Given the description of an element on the screen output the (x, y) to click on. 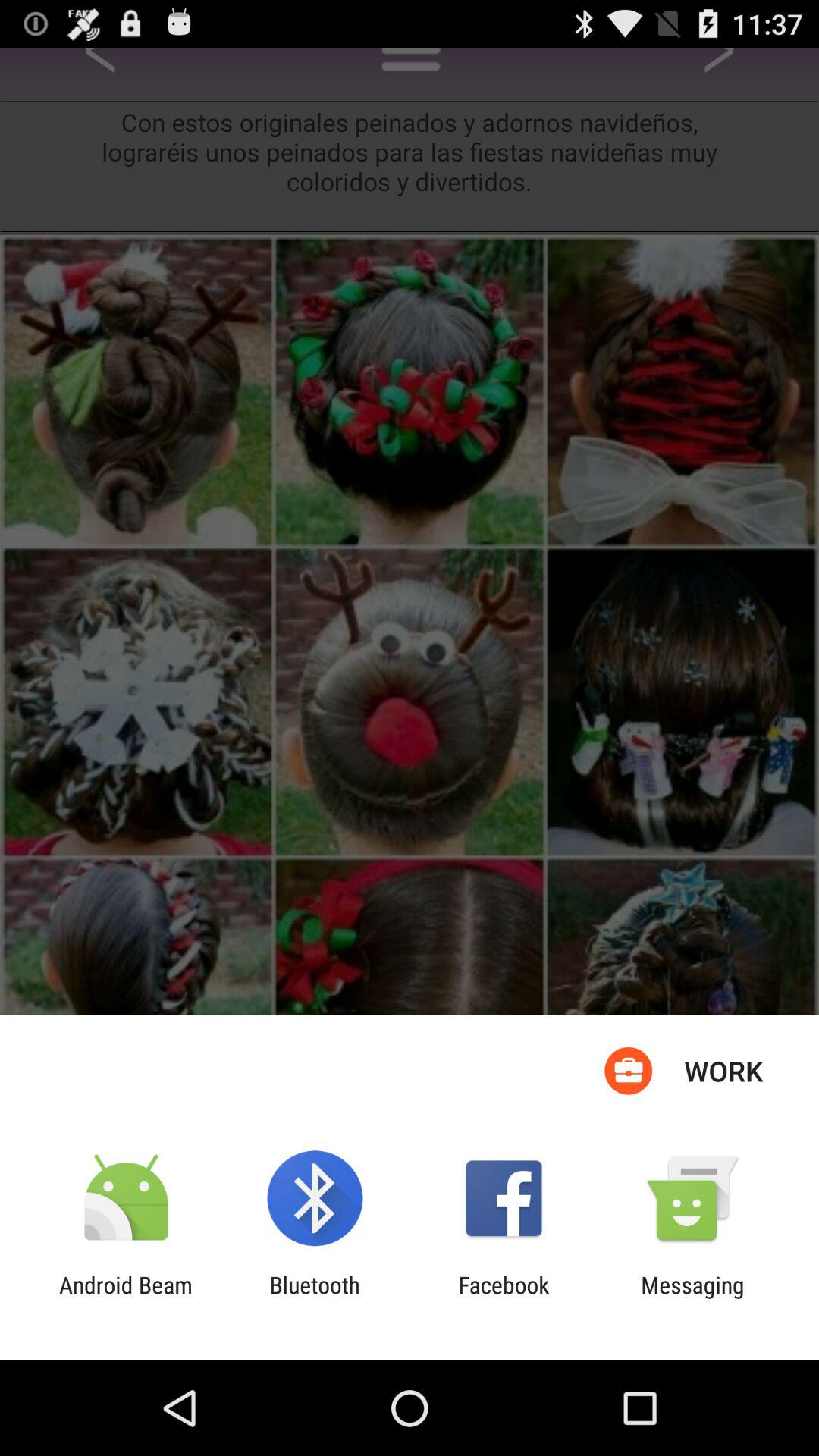
swipe to messaging item (692, 1298)
